Given the description of an element on the screen output the (x, y) to click on. 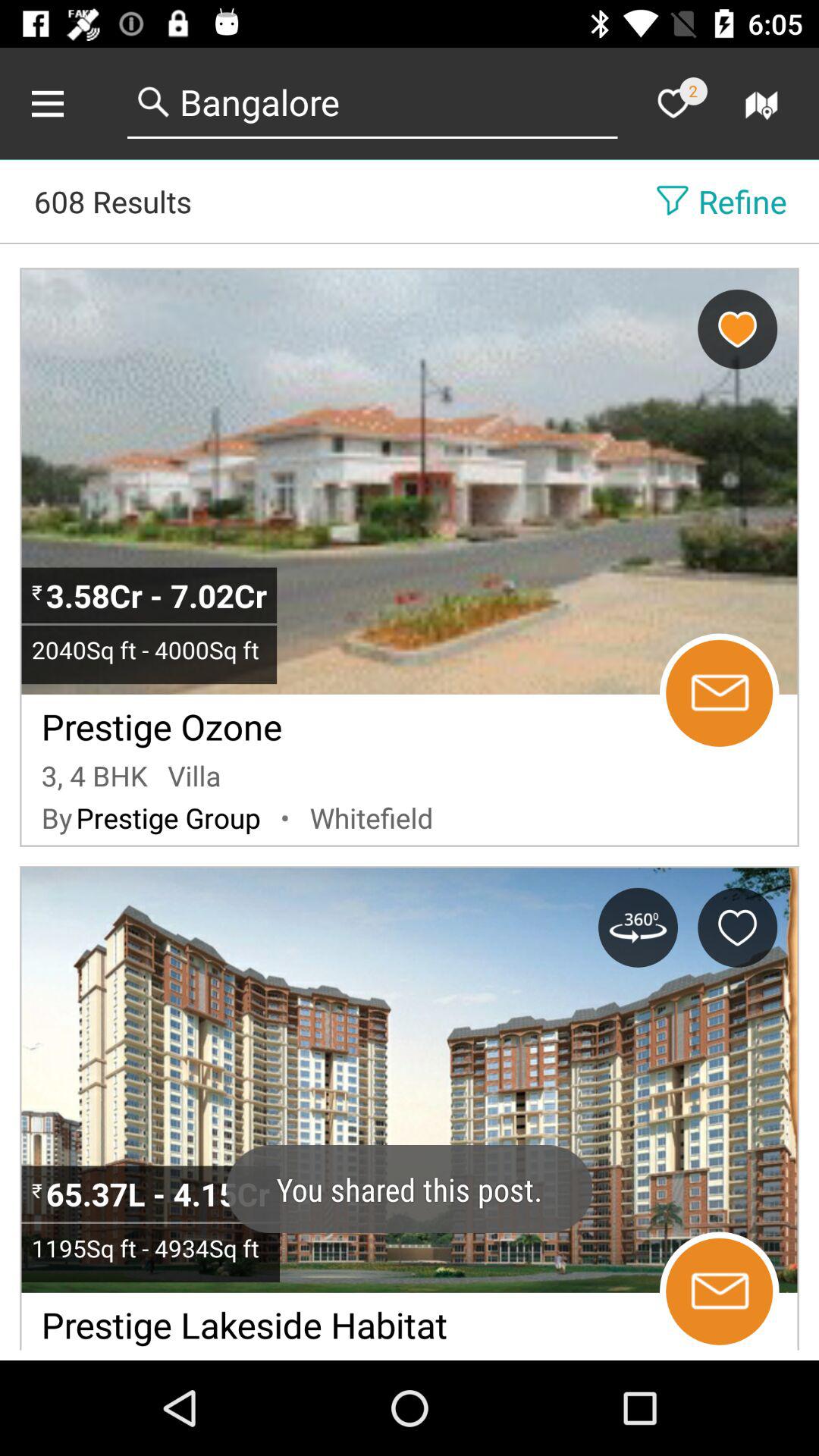
like notification (673, 103)
